Given the description of an element on the screen output the (x, y) to click on. 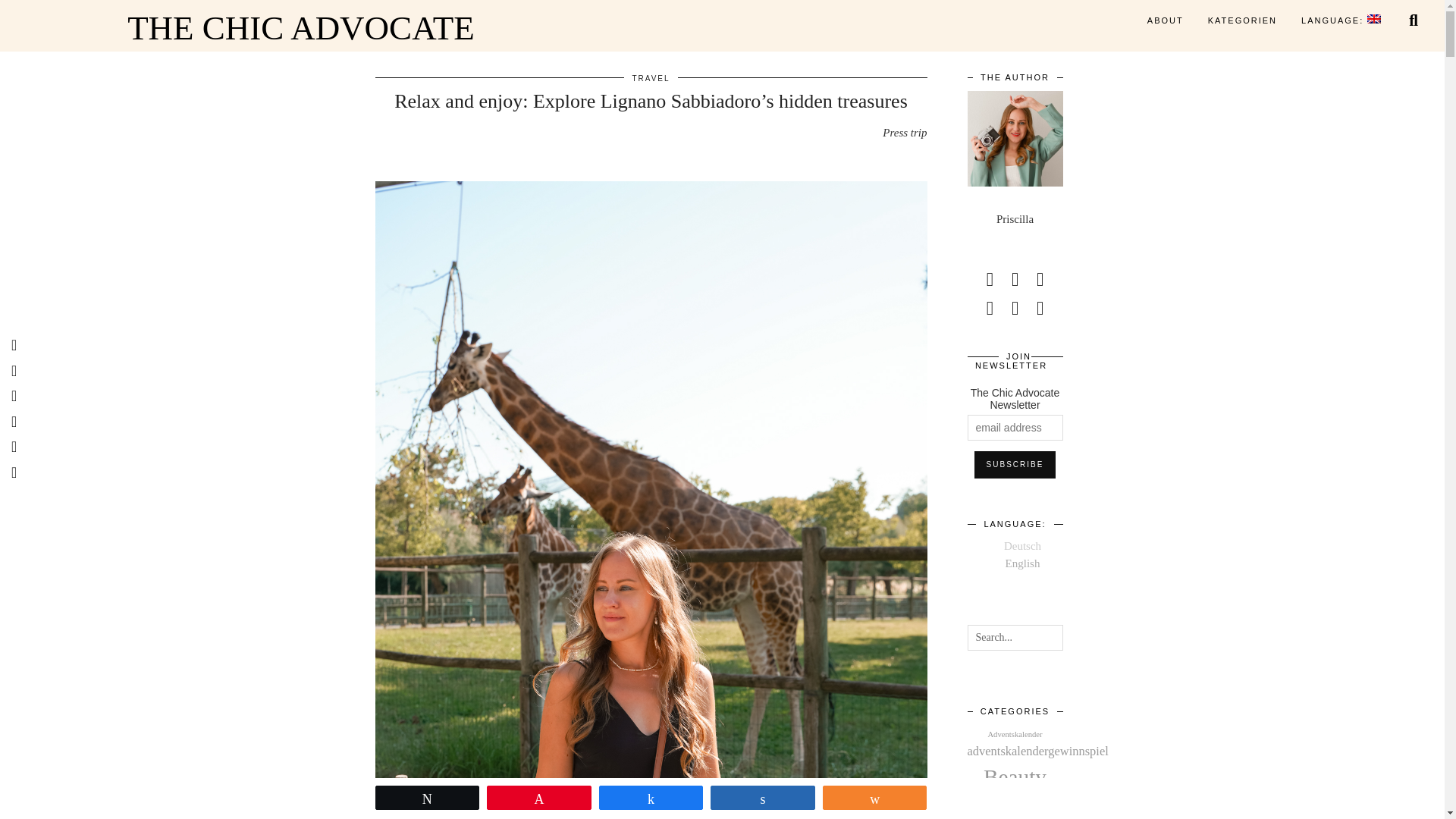
ABOUT (1165, 20)
English (1340, 20)
The Chic Advocate (300, 28)
Subscribe (1015, 464)
